Given the description of an element on the screen output the (x, y) to click on. 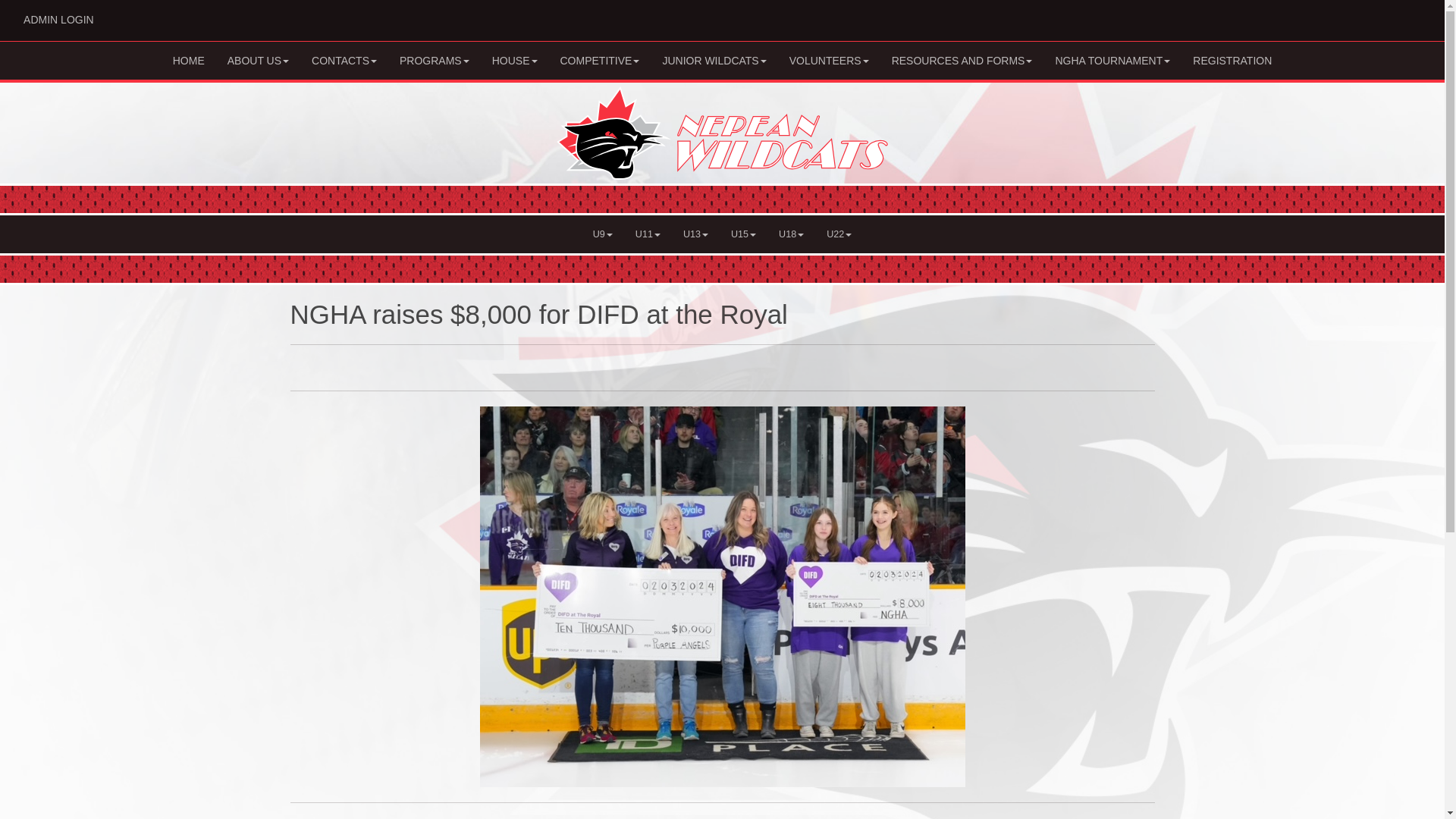
HOUSE (514, 60)
JUNIOR WILDCATS (713, 60)
COMPETITIVE (599, 60)
Twitter (1388, 14)
CONTACTS (57, 20)
PROGRAMS (343, 60)
ABOUT US (434, 60)
Instagram (257, 60)
Facebook (1412, 14)
